Given the description of an element on the screen output the (x, y) to click on. 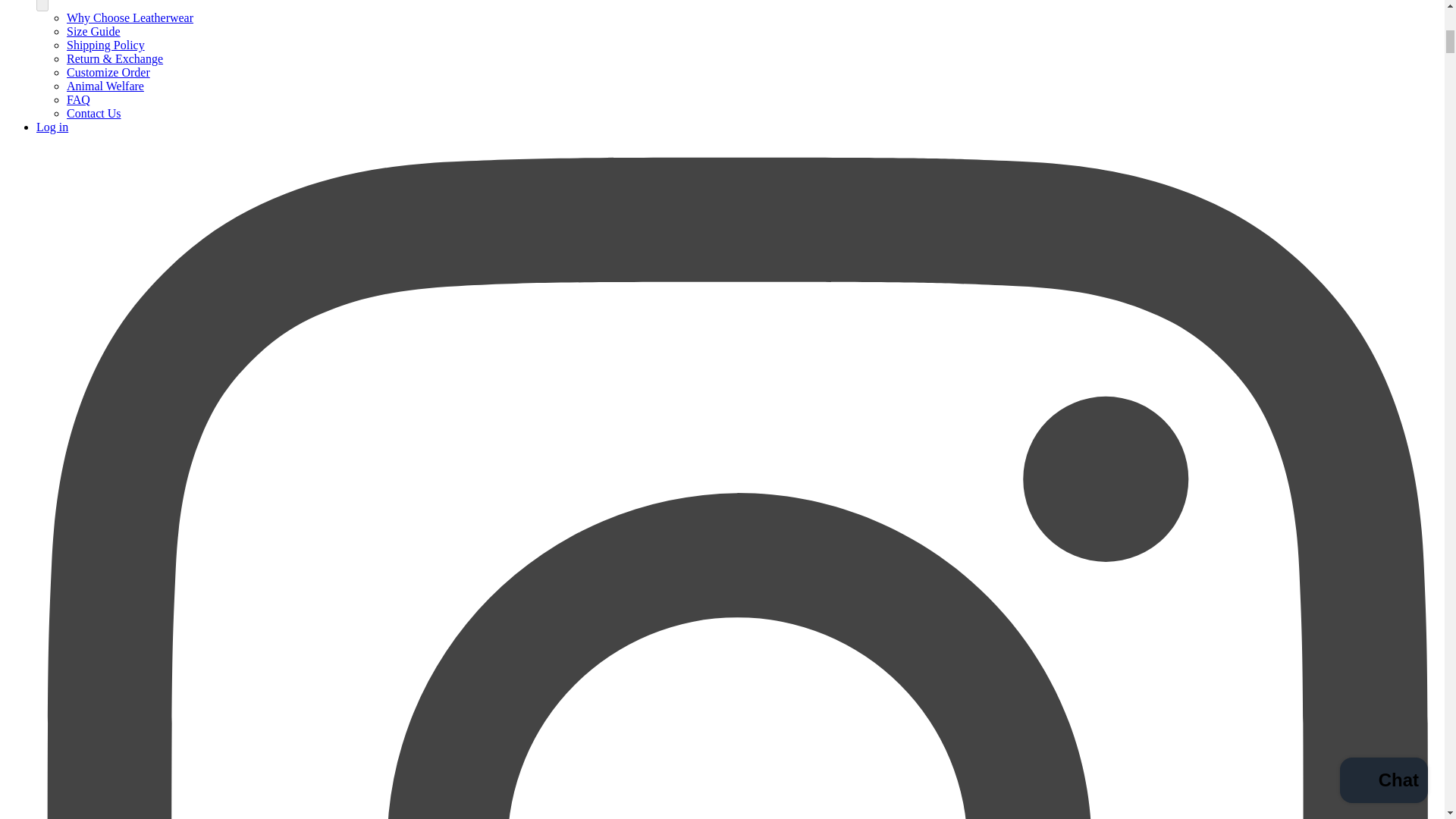
Log in (52, 126)
Why Choose Leatherwear (129, 17)
Animal Welfare (105, 85)
Customize Order (107, 72)
Shipping Policy (105, 44)
FAQ (78, 99)
Size Guide (93, 31)
Contact Us (93, 113)
